Given the description of an element on the screen output the (x, y) to click on. 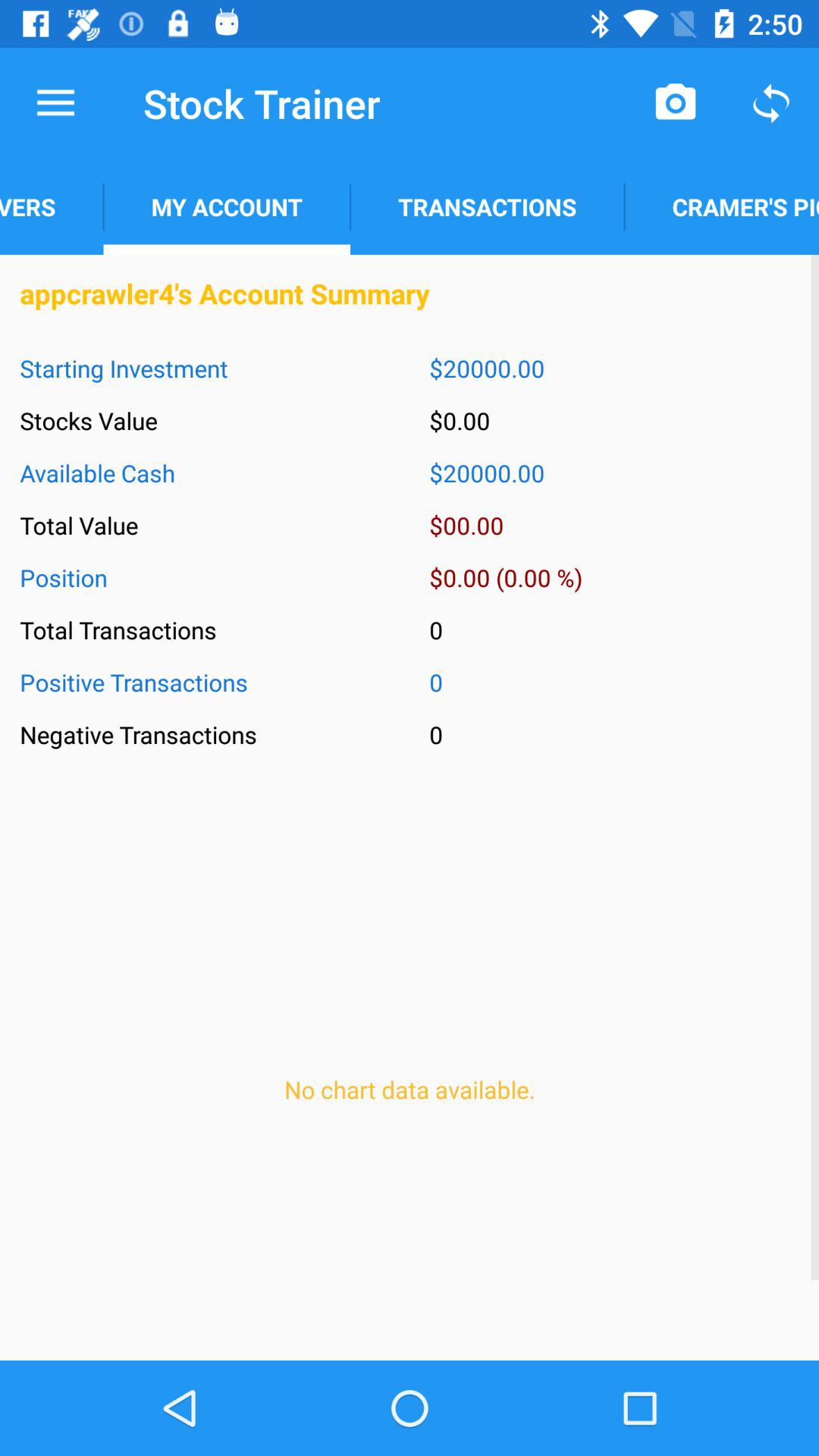
open the app above transactions app (675, 103)
